Given the description of an element on the screen output the (x, y) to click on. 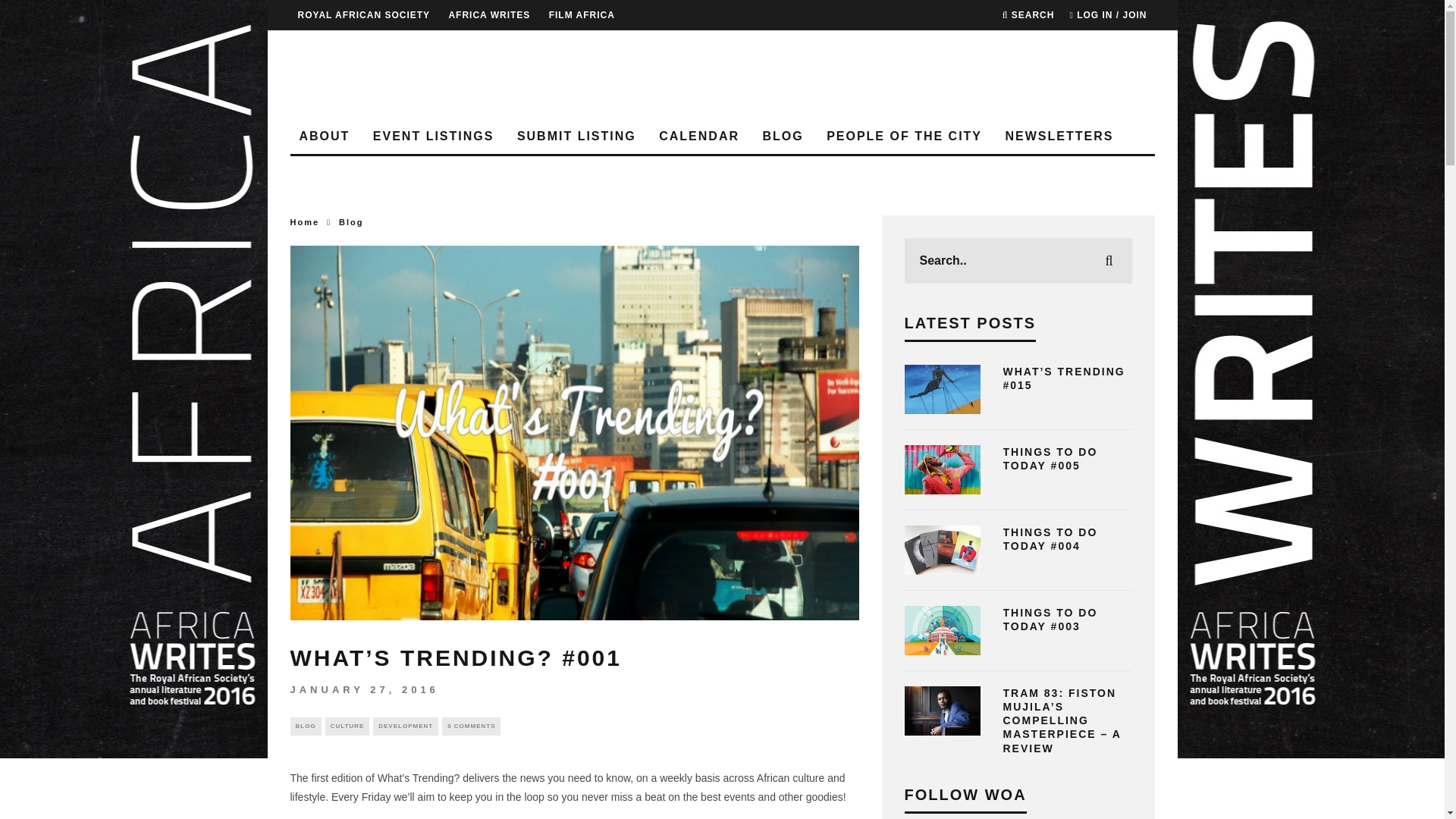
View all posts in Culture (346, 726)
View all posts in Blog (304, 726)
Search (1028, 15)
View all posts in Blog (350, 221)
SEARCH (1028, 15)
EVENT LISTINGS (433, 136)
Log In (721, 422)
View all posts in Development (405, 726)
ROYAL AFRICAN SOCIETY (363, 15)
FILM AFRICA (581, 15)
